Given the description of an element on the screen output the (x, y) to click on. 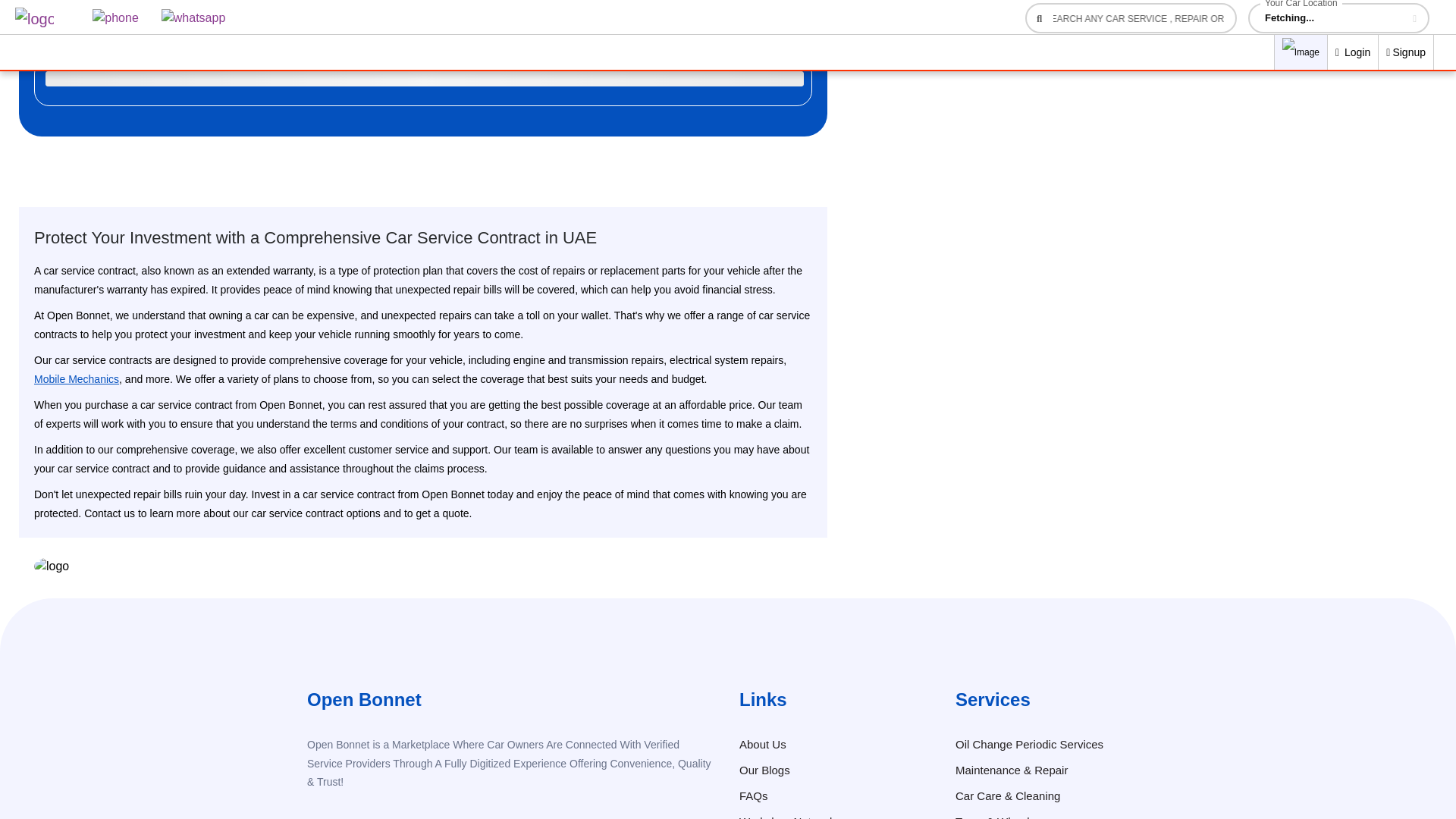
Mobile Mechanics (76, 379)
